Given the description of an element on the screen output the (x, y) to click on. 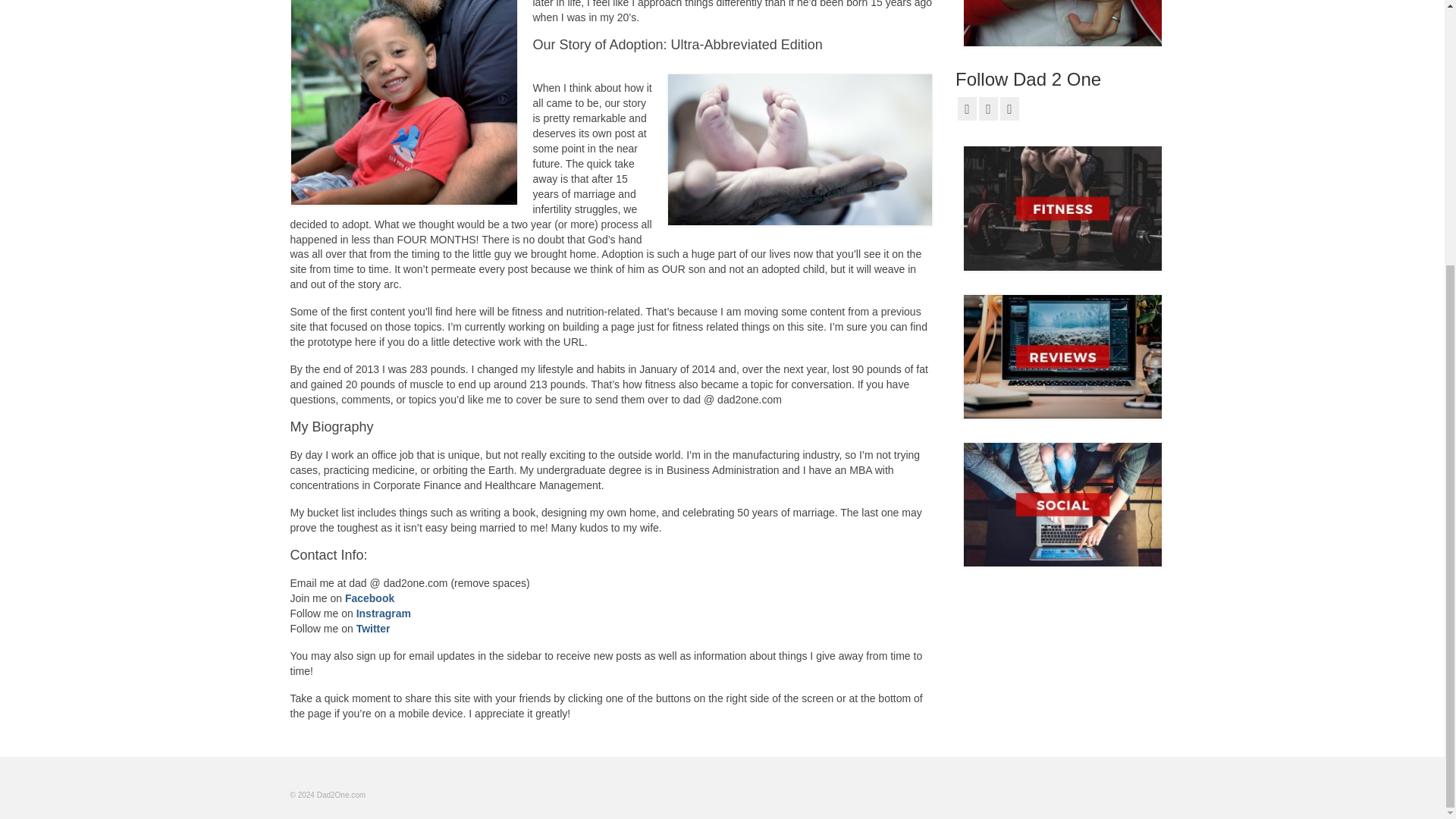
Facebook (369, 598)
Instragram (383, 613)
Twitter (373, 628)
